Given the description of an element on the screen output the (x, y) to click on. 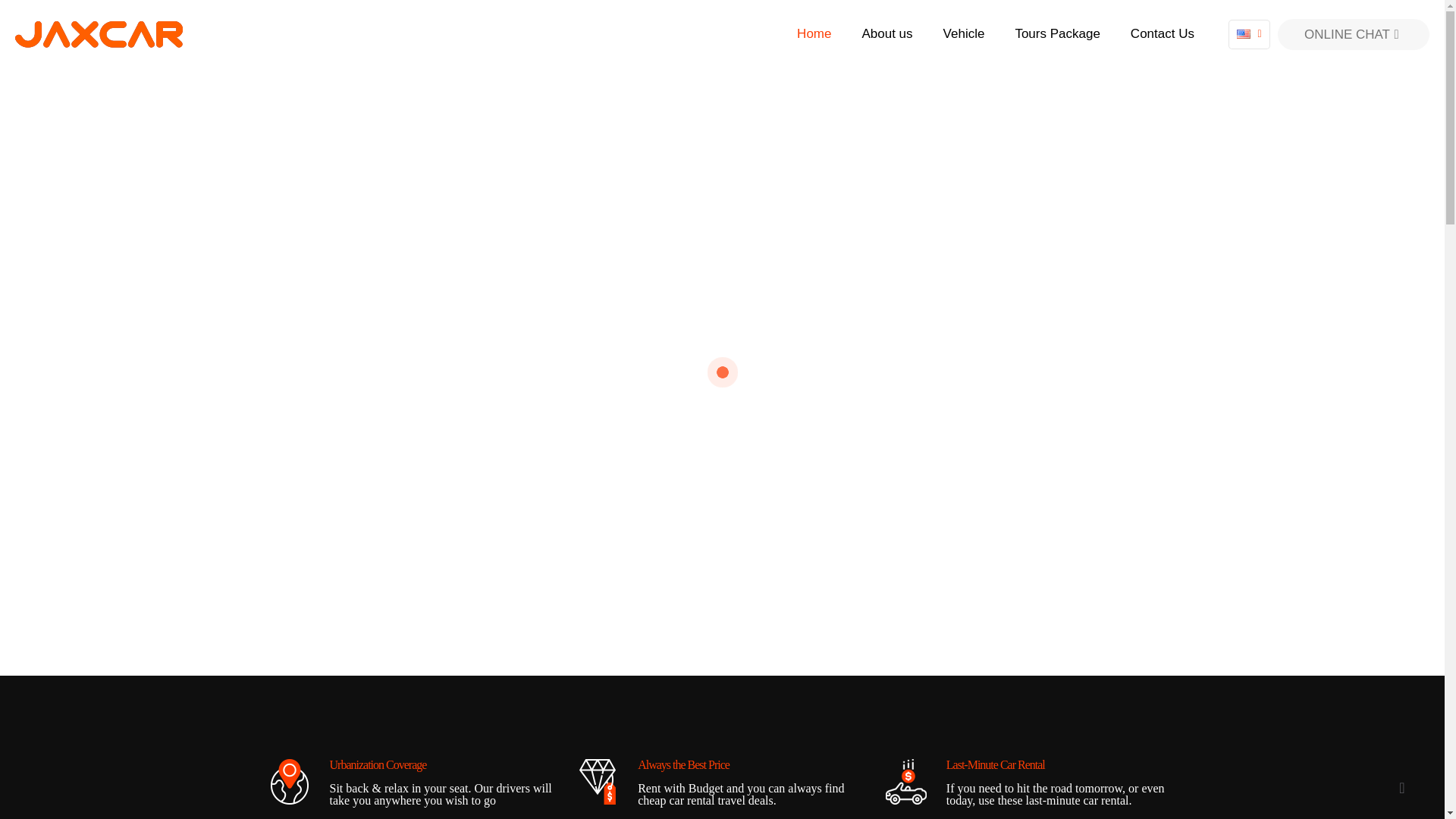
Tours Package (1056, 33)
JAXCAR (98, 33)
Contact Us (1162, 33)
Vehicle (964, 33)
ONLINE CHAT (1353, 33)
About us (886, 33)
Home (813, 33)
